Given the description of an element on the screen output the (x, y) to click on. 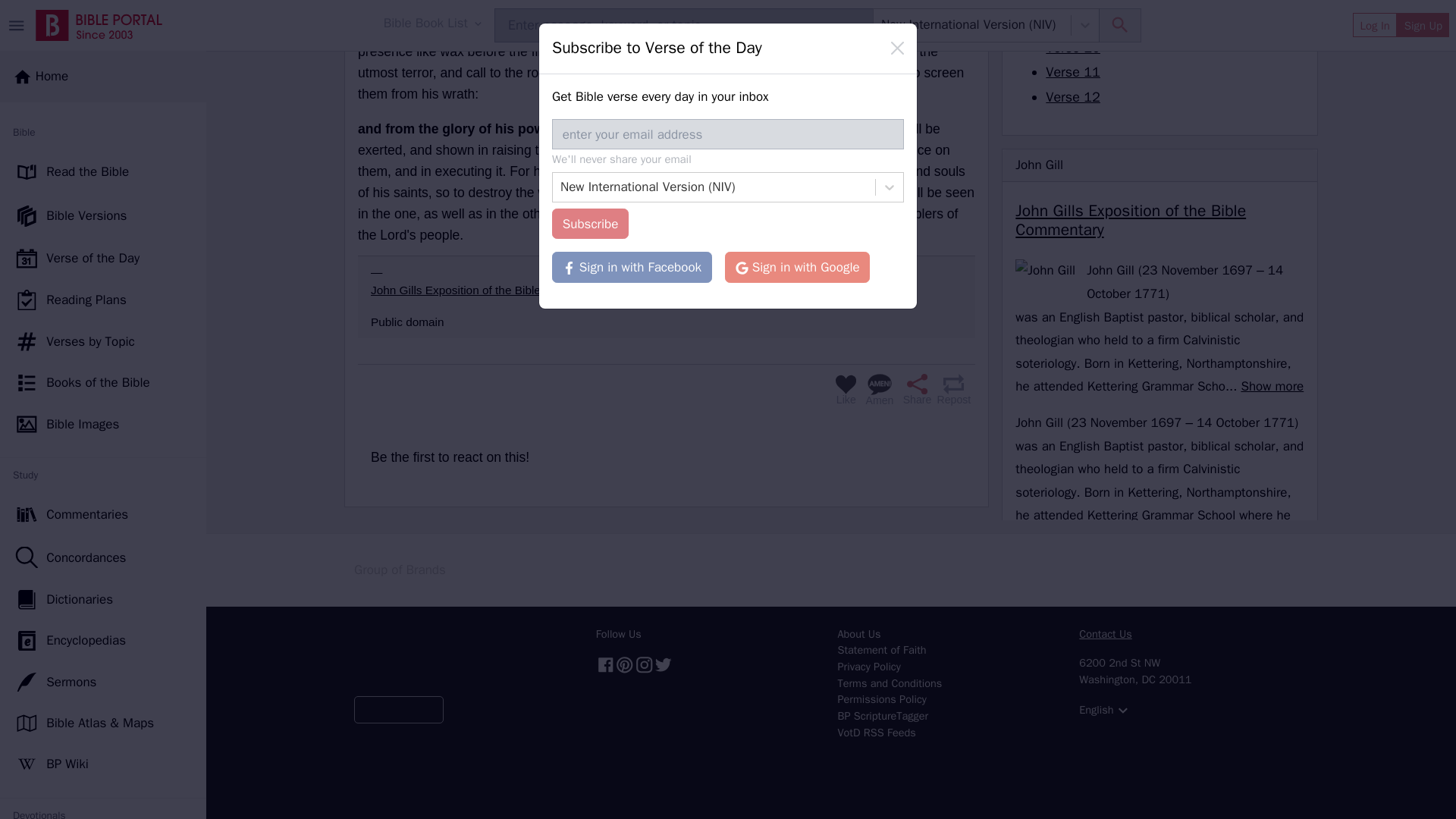
All Devotionals (103, 437)
Today's Devotionals (103, 355)
Light of the World (103, 396)
What The Bible Says (103, 736)
Commentaries (103, 19)
BP Wiki (103, 266)
Inspirational Quotes (103, 479)
Sermons (103, 184)
Dictionaries (103, 101)
Encyclopedias (103, 143)
Picture Quotes (103, 568)
Concordances (103, 59)
Videos (103, 609)
Bible Study (103, 693)
Inspirational (103, 650)
